Given the description of an element on the screen output the (x, y) to click on. 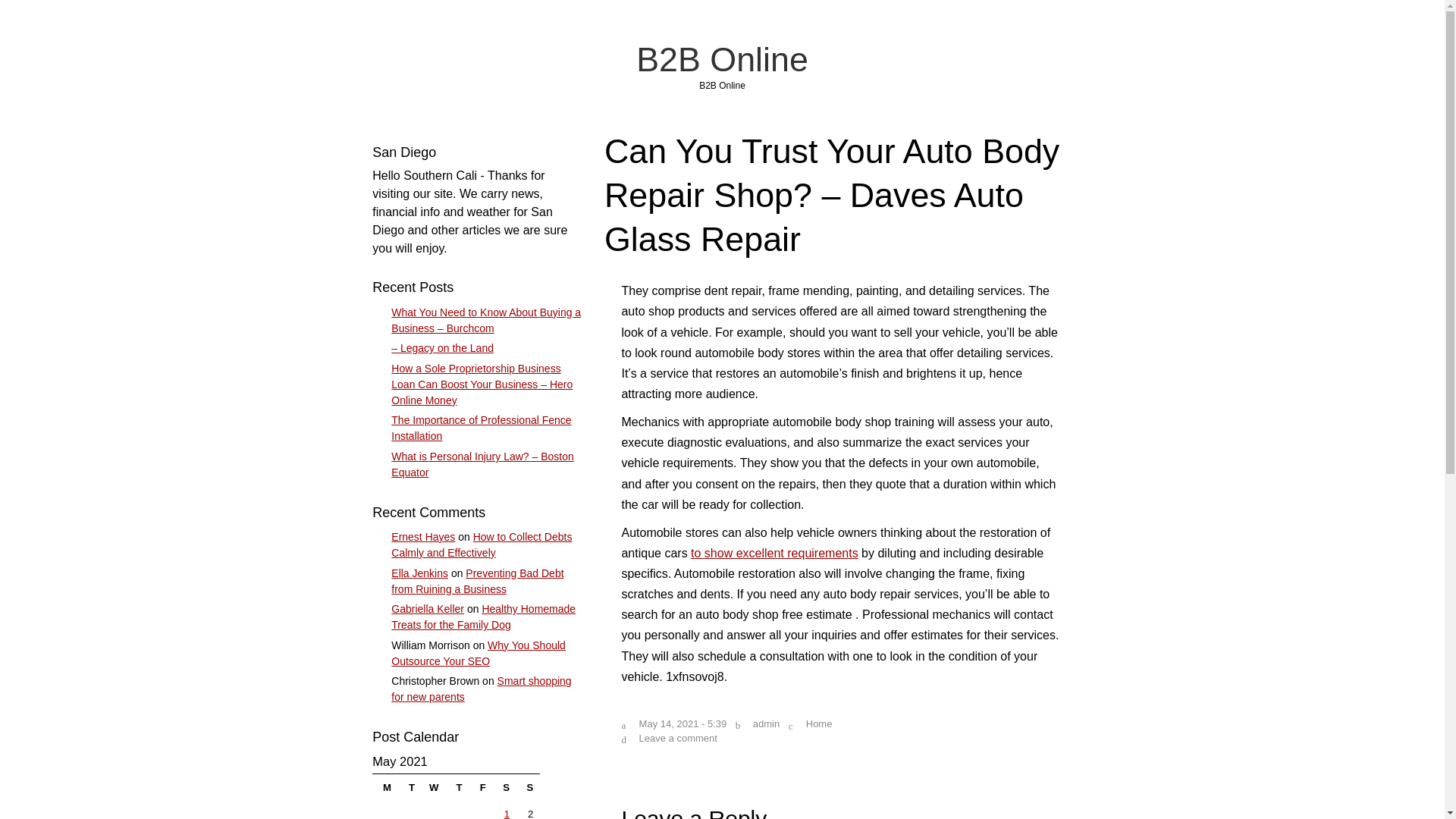
Ernest Hayes (422, 536)
Ella Jenkins (419, 573)
May 14, 2021 - 5:39 (682, 723)
Home (819, 723)
The Importance of Professional Fence Installation (480, 428)
to show excellent requirements (774, 553)
B2B Online (722, 58)
Healthy Homemade Treats for the Family Dog (483, 616)
Posts by admin (765, 723)
Gabriella Keller (427, 608)
